Given the description of an element on the screen output the (x, y) to click on. 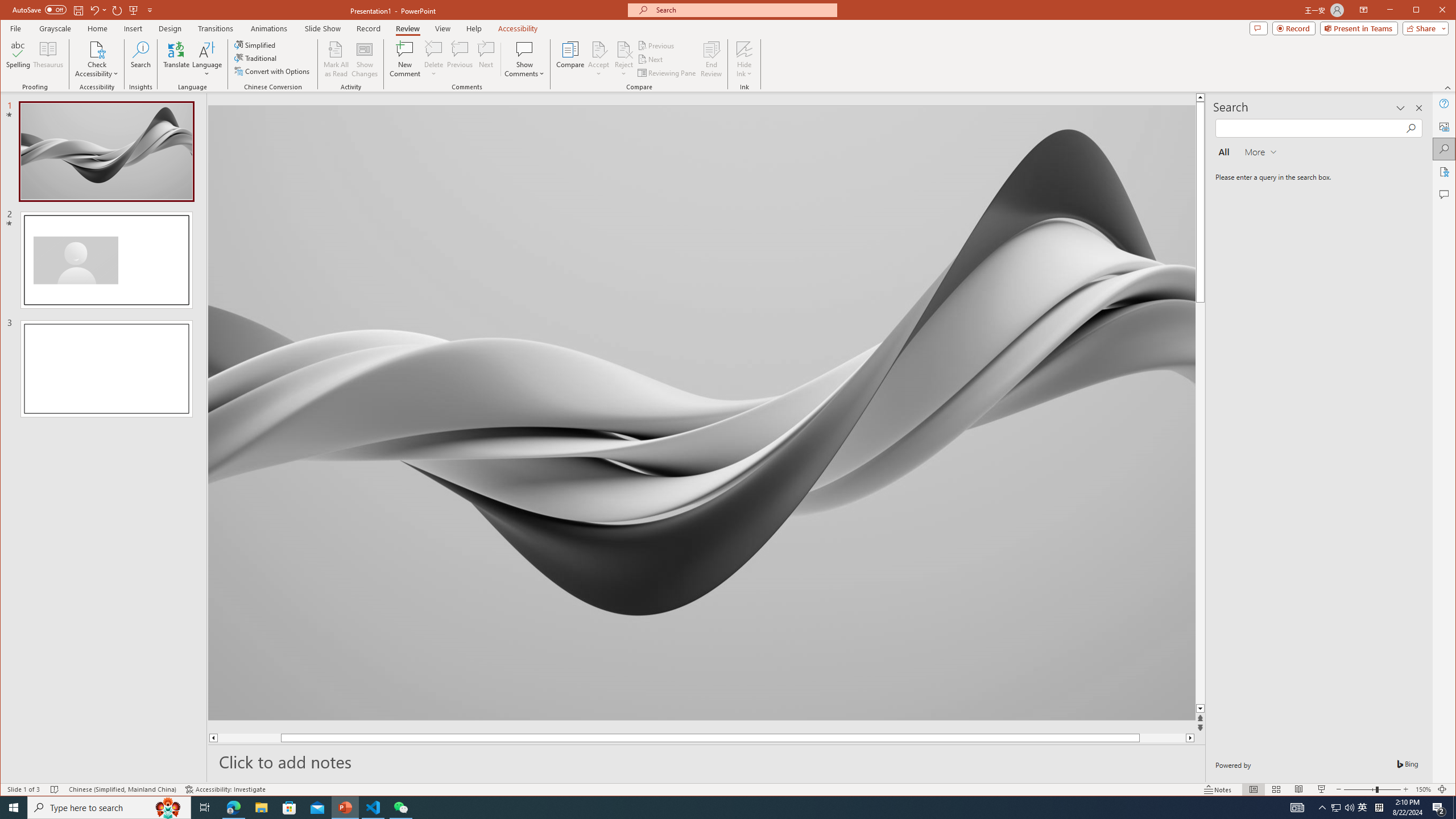
Zoom 150% (1422, 789)
